Given the description of an element on the screen output the (x, y) to click on. 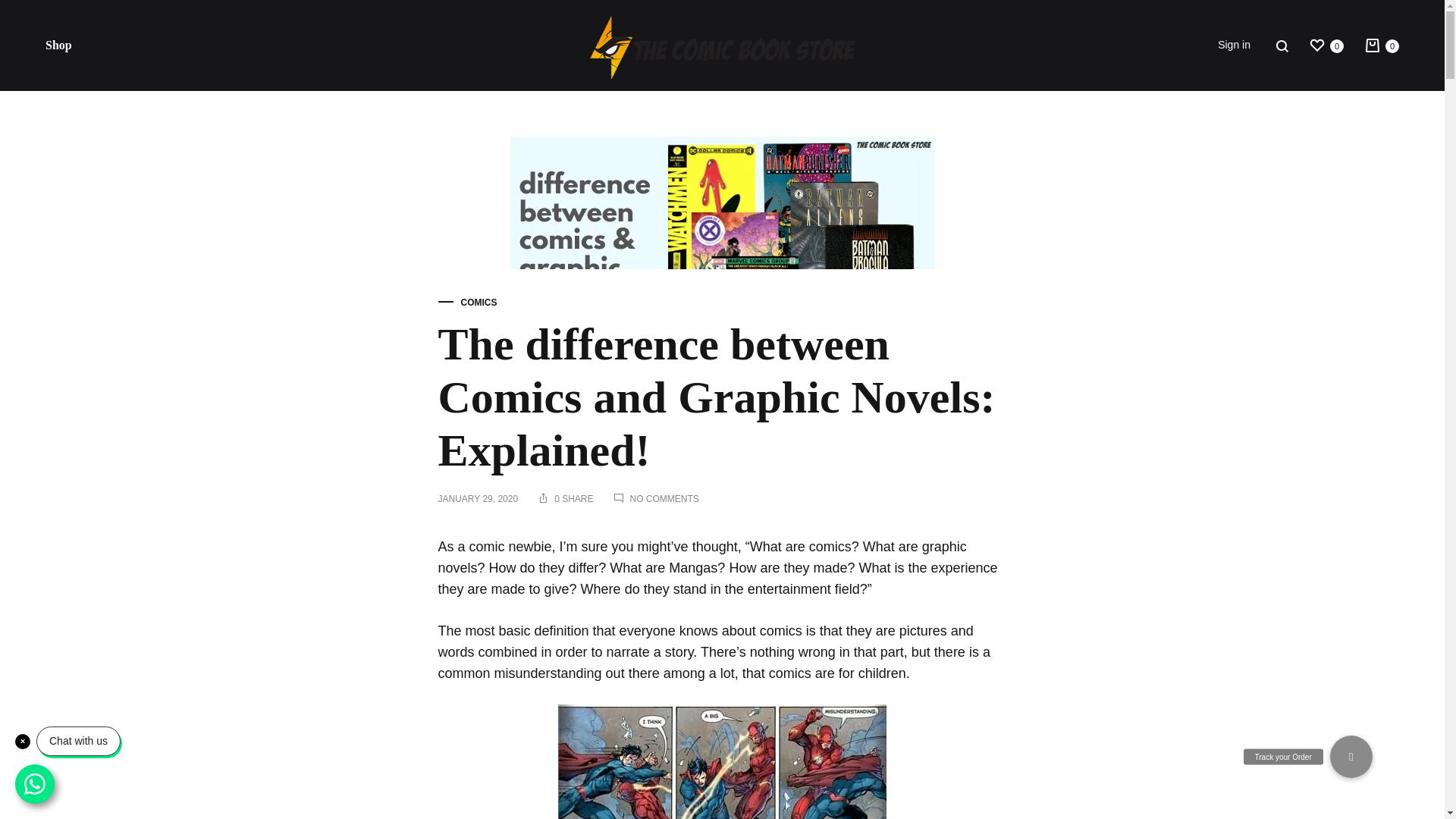
Shop (58, 45)
Sign in (1233, 45)
COMICS (1380, 45)
